Given the description of an element on the screen output the (x, y) to click on. 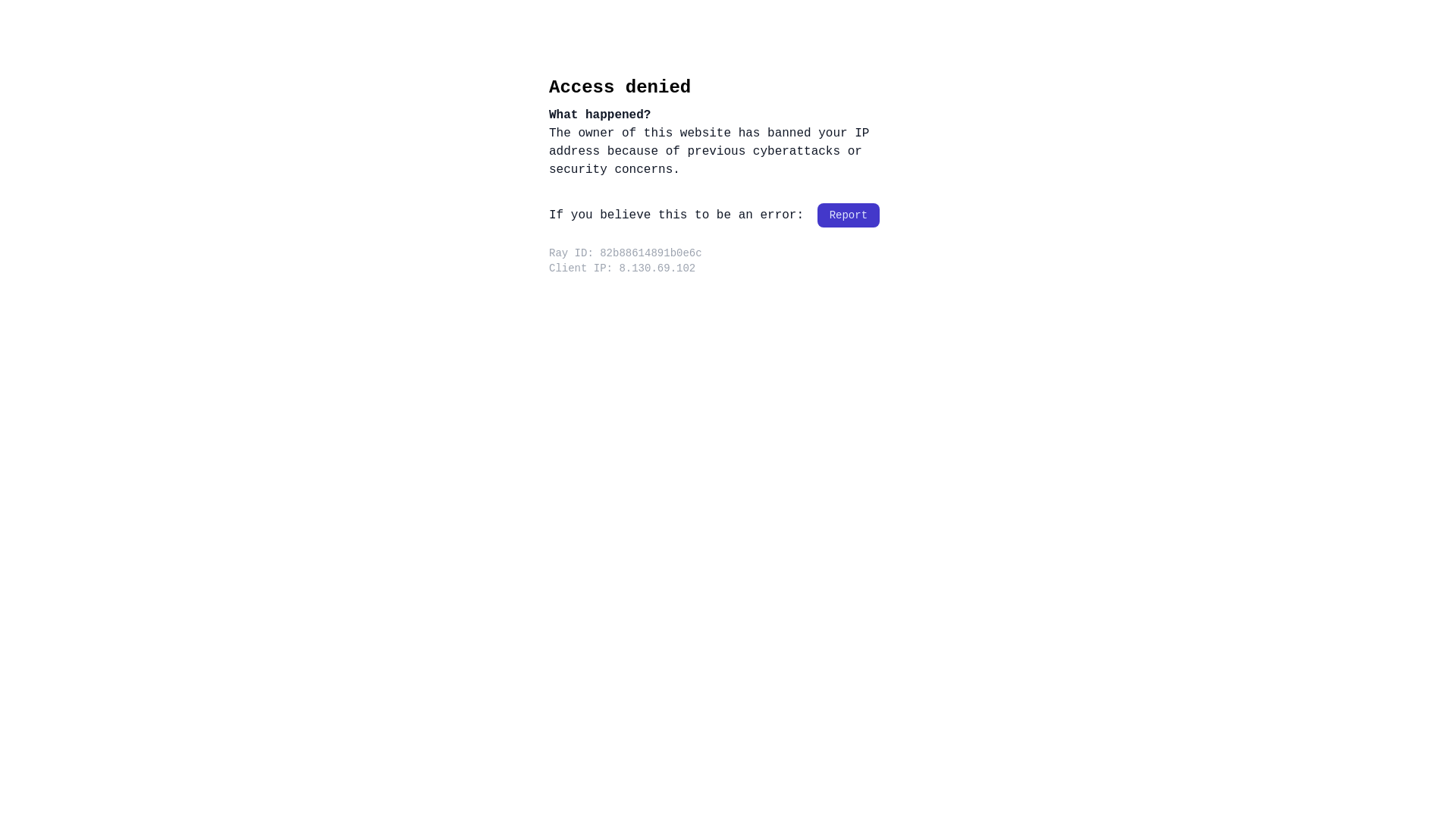
Report Element type: text (848, 215)
